Given the description of an element on the screen output the (x, y) to click on. 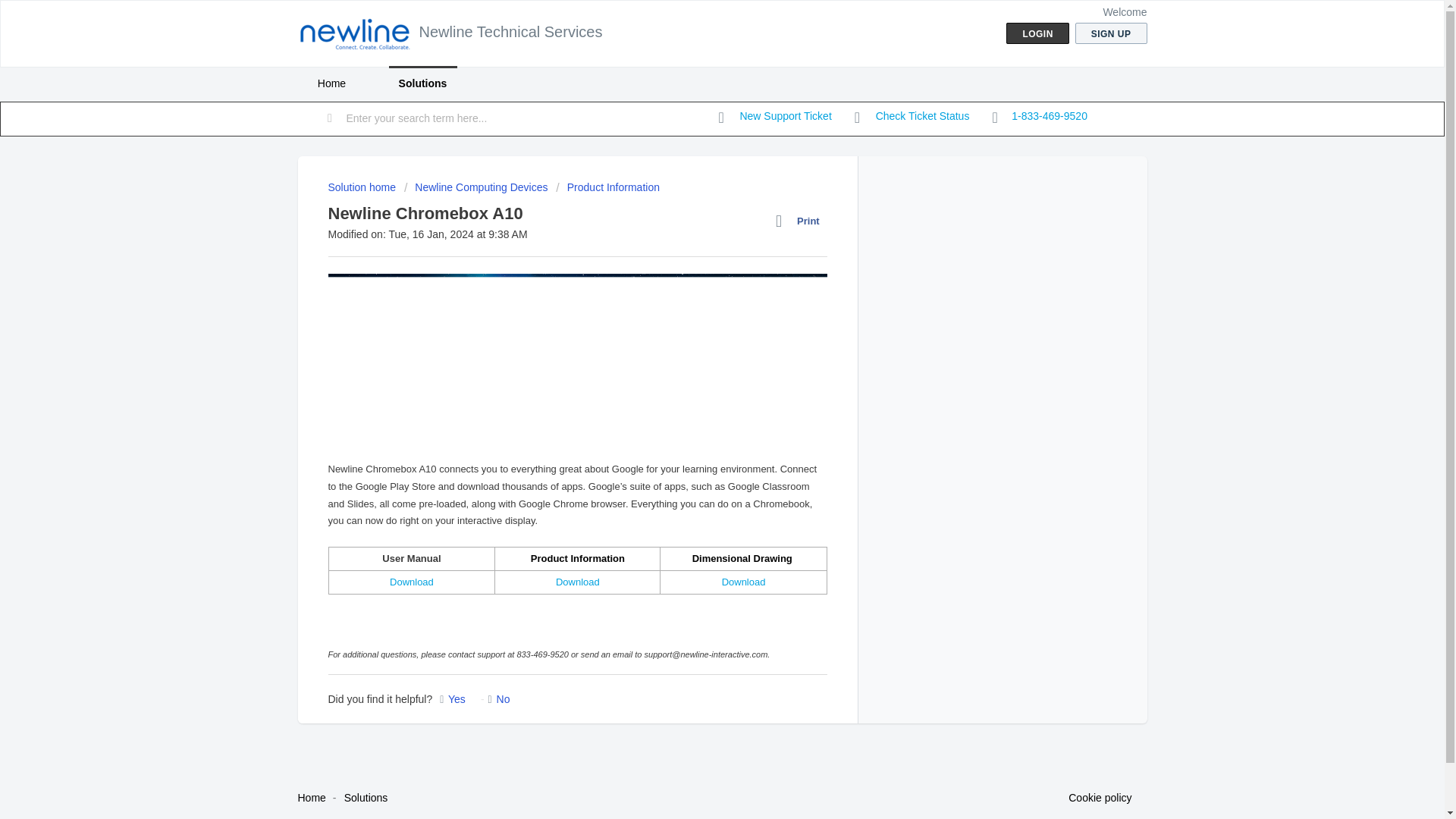
Check Ticket Status (911, 116)
Home (331, 83)
Home (310, 797)
LOGIN (1037, 33)
Print (801, 220)
Solutions (365, 797)
Print this Article (801, 220)
Solutions (422, 83)
Cookie policy (1099, 798)
New Support Ticket (775, 116)
